Given the description of an element on the screen output the (x, y) to click on. 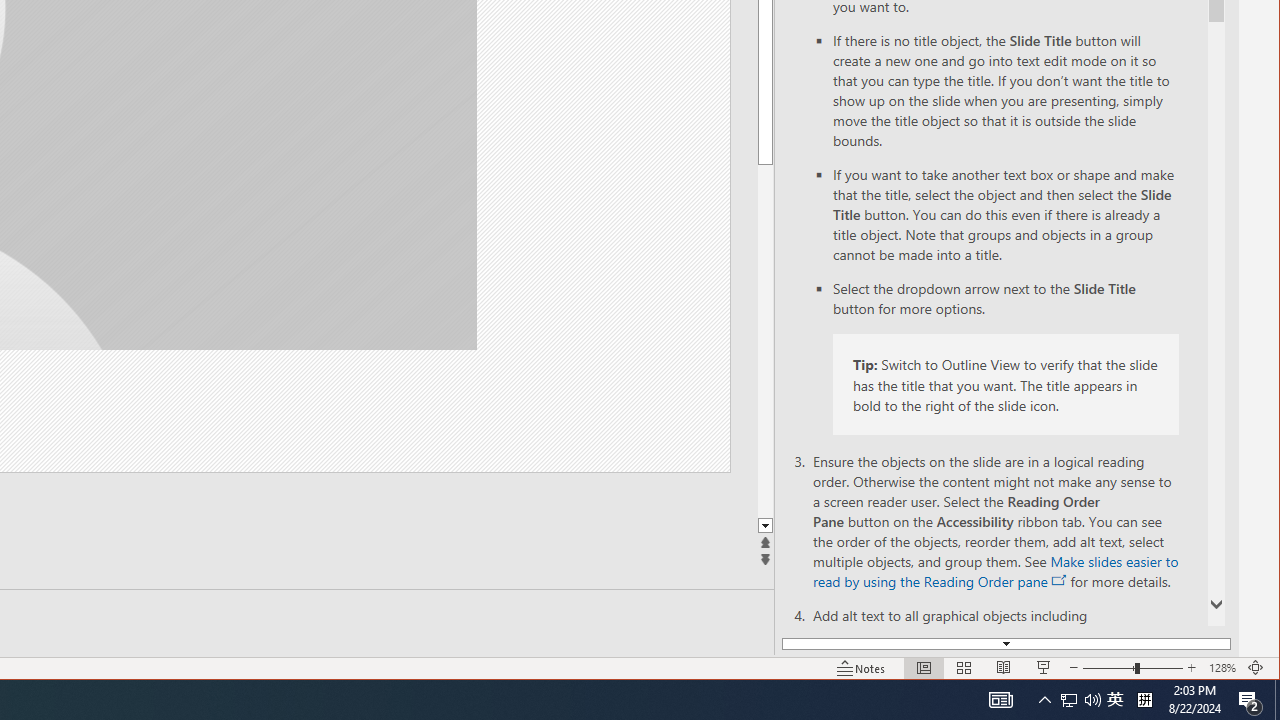
openinnewwindow (1059, 580)
